Given the description of an element on the screen output the (x, y) to click on. 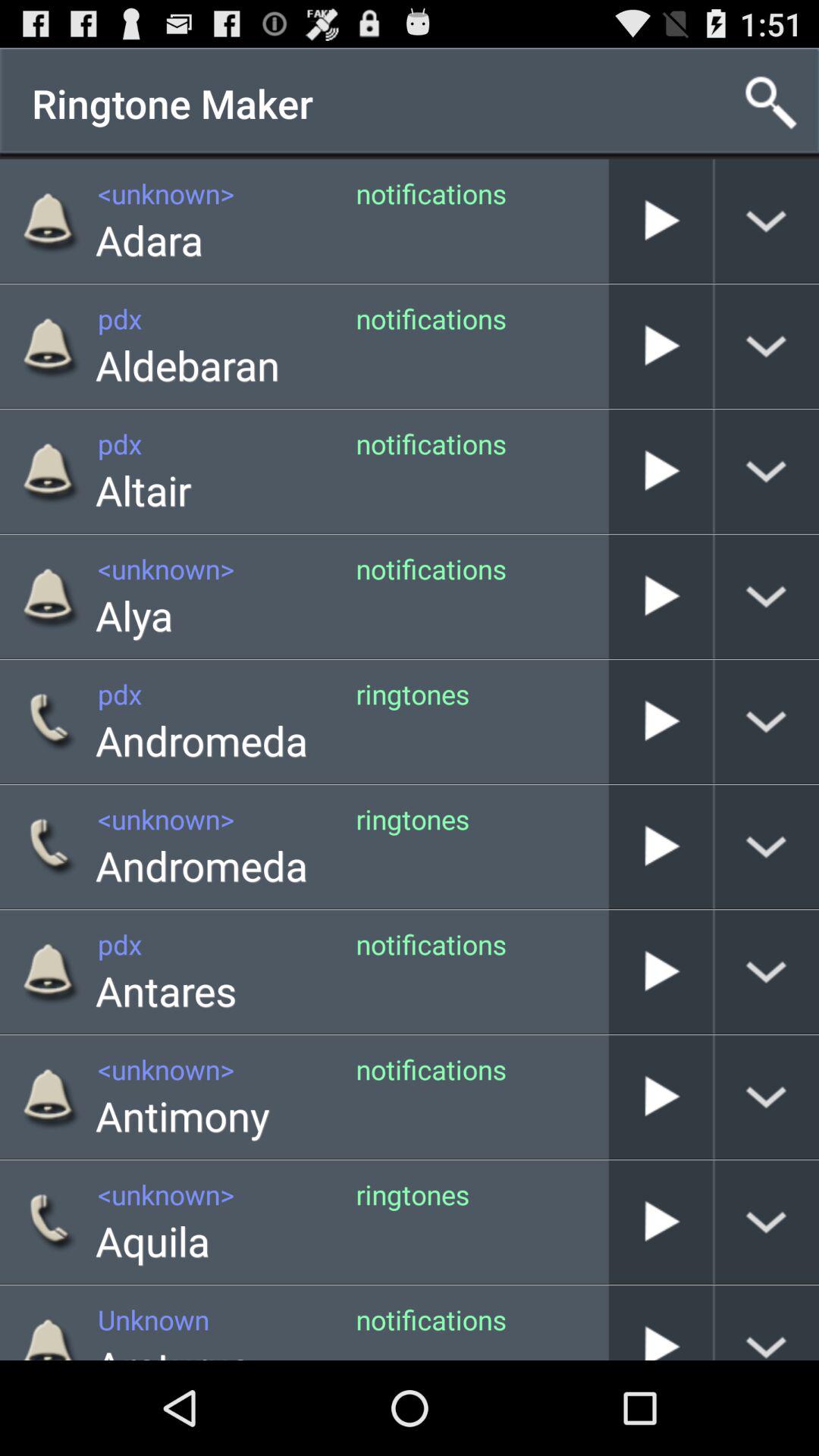
play selection (660, 471)
